Given the description of an element on the screen output the (x, y) to click on. 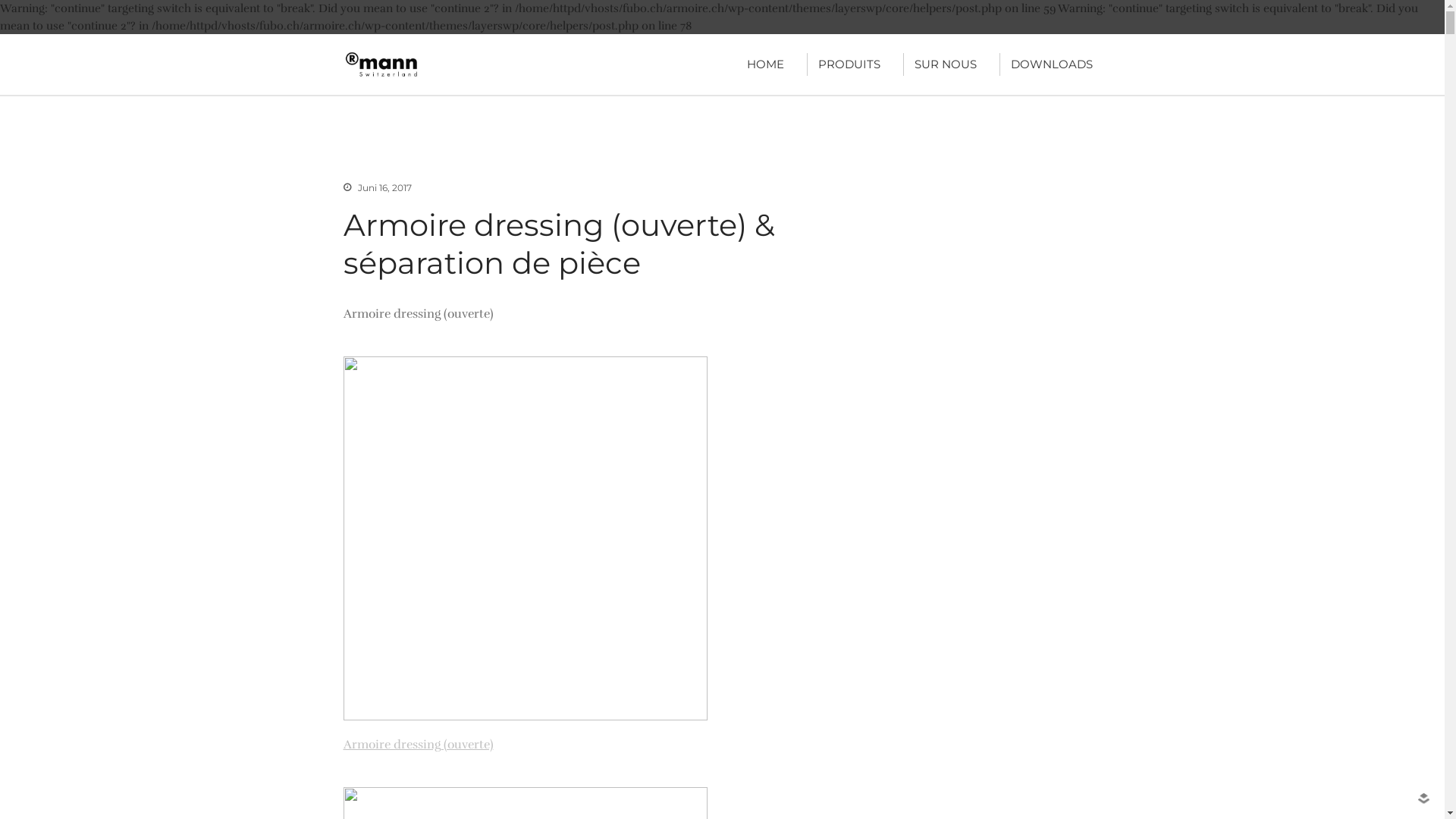
HOME Element type: text (764, 64)
ARMOIRE Element type: text (472, 75)
Armoire dressing (ouverte) Element type: text (417, 744)
DOWNLOADS Element type: text (1050, 64)
PRODUITS Element type: text (848, 64)
SUR NOUS Element type: text (945, 64)
